Given the description of an element on the screen output the (x, y) to click on. 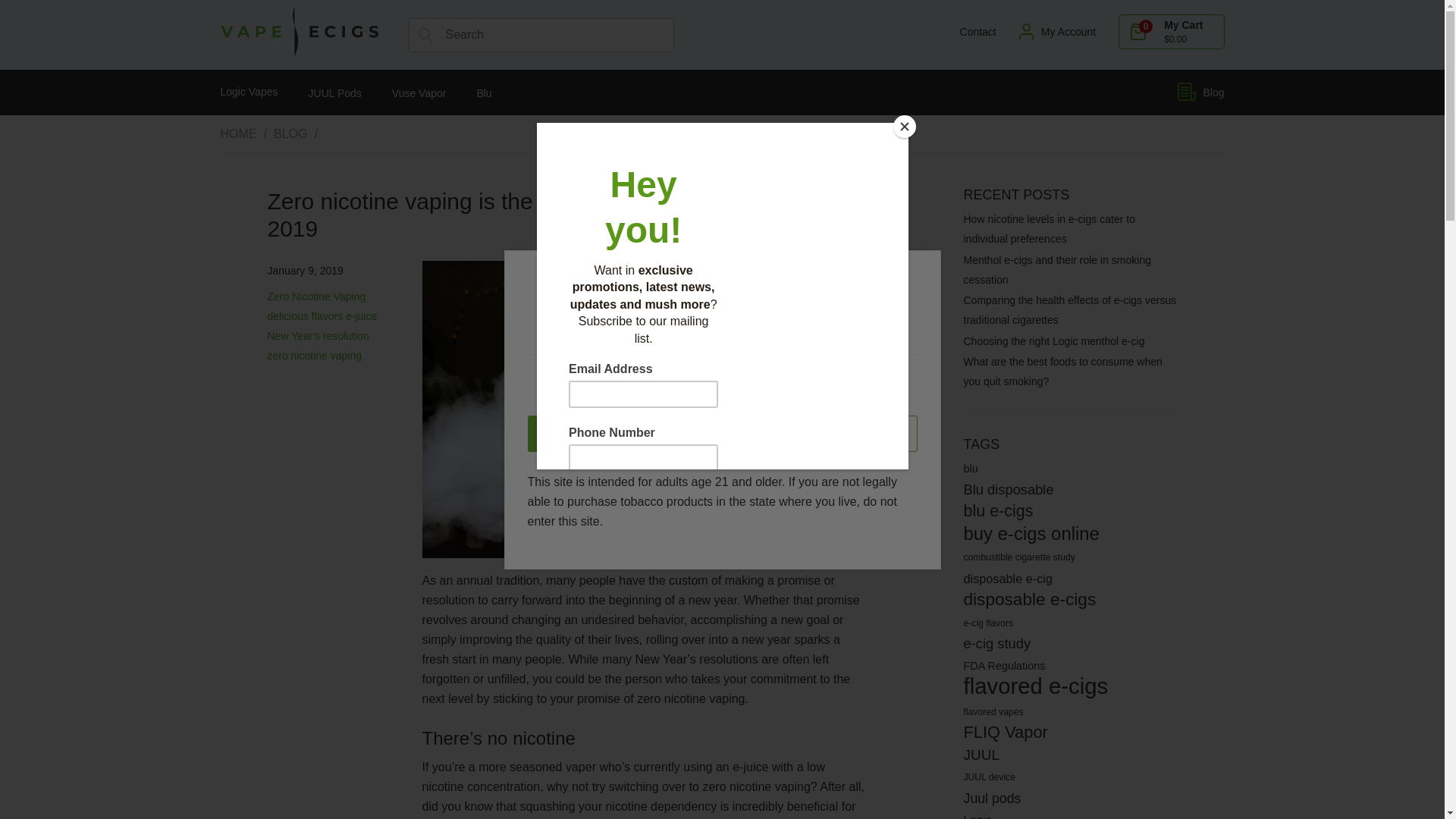
HOME (237, 134)
New Year's resolution (317, 336)
Blog (1200, 92)
Vuse Vapor (418, 93)
Logic Vapes (248, 91)
Zero Nicotine Vaping (315, 296)
delicious flavors (304, 316)
Contact (974, 30)
JUUL Pods (334, 93)
search (424, 35)
e-juice (361, 316)
zero nicotine vaping (313, 355)
Menthol e-cigs and their role in smoking cessation (1069, 269)
My Account (1057, 31)
